Given the description of an element on the screen output the (x, y) to click on. 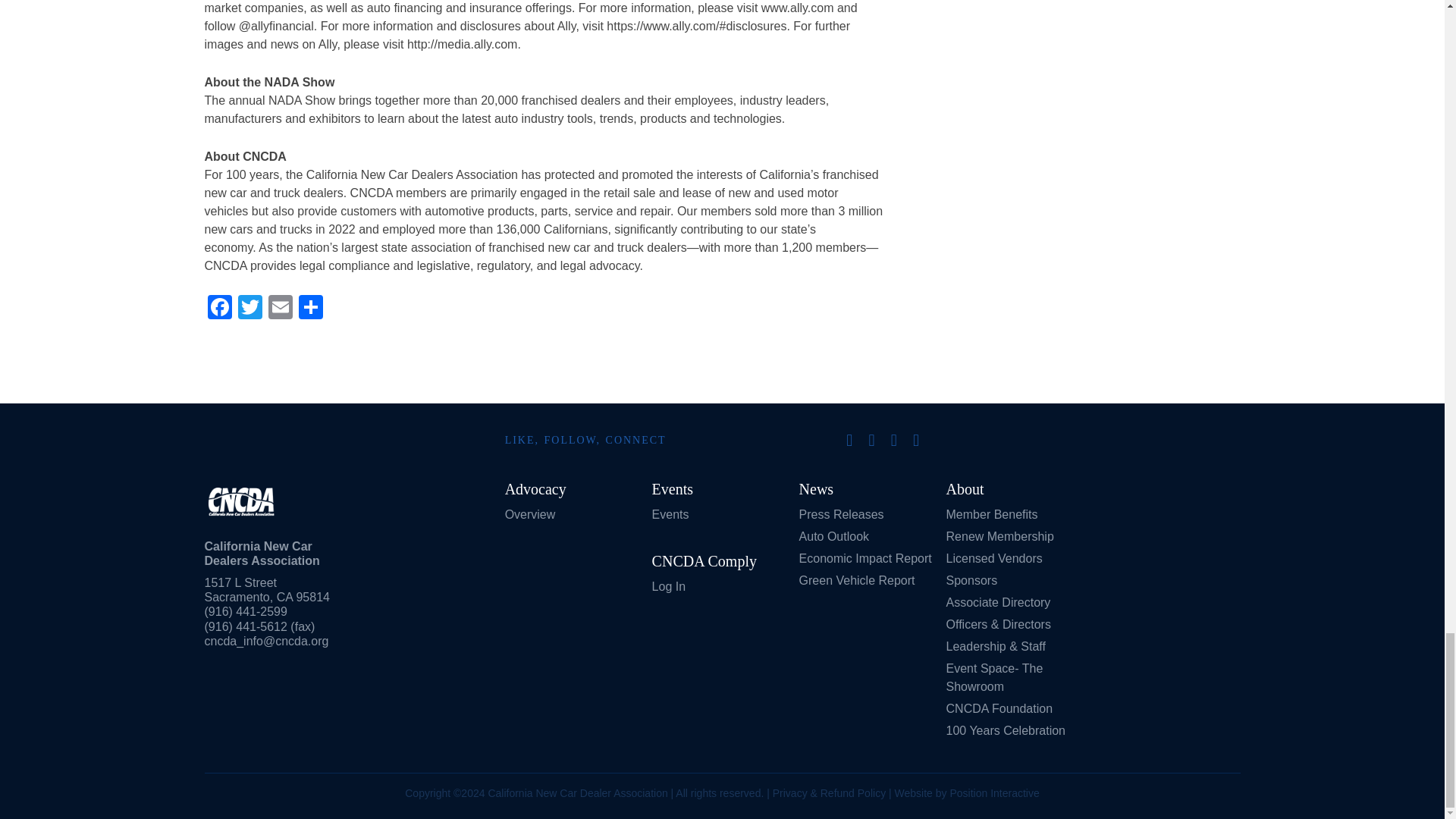
Email (279, 308)
Share (310, 308)
Twitter (249, 308)
Association Website Design (994, 793)
Facebook (219, 308)
Twitter (249, 308)
Email (279, 308)
Facebook (219, 308)
